Given the description of an element on the screen output the (x, y) to click on. 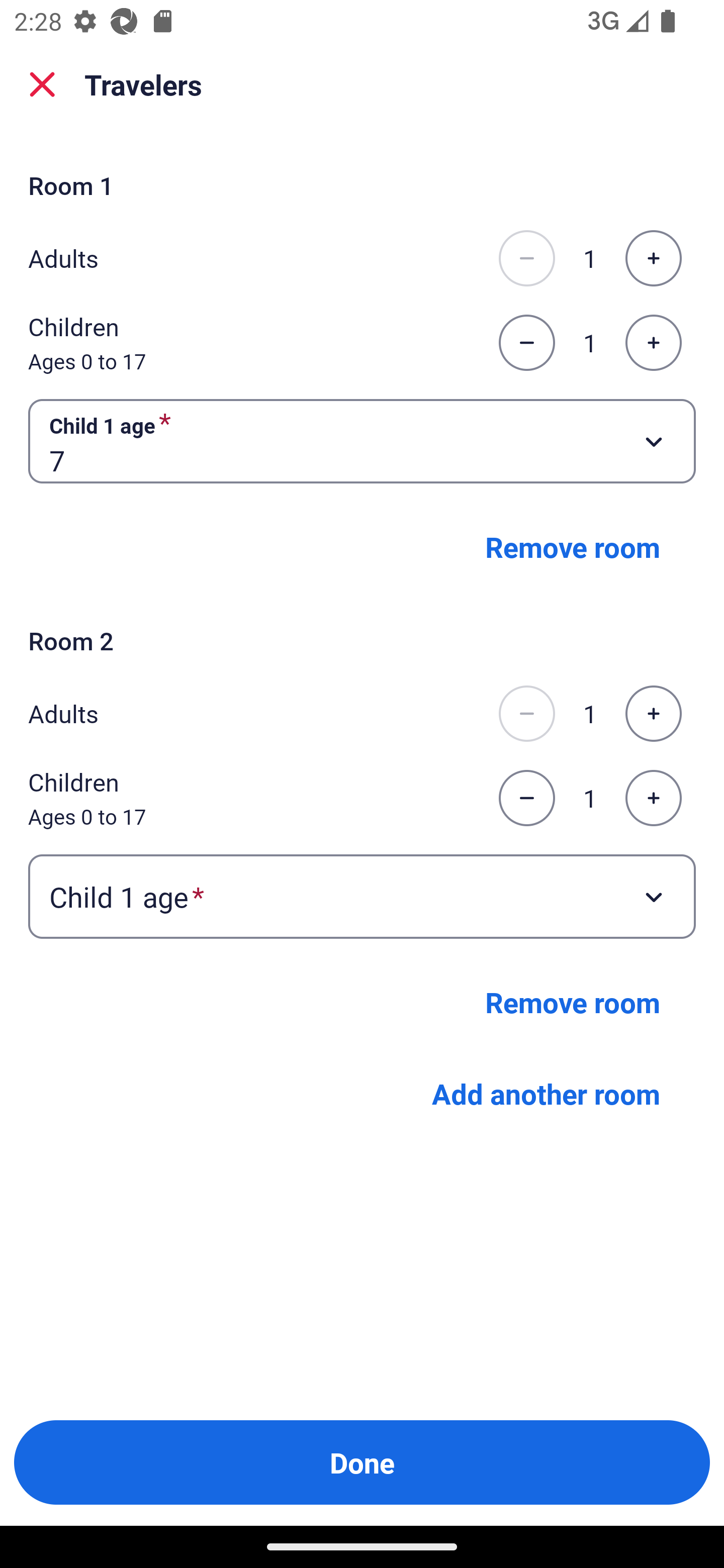
close (42, 84)
Decrease the number of adults (526, 258)
Increase the number of adults (653, 258)
Decrease the number of children (526, 343)
Increase the number of children (653, 343)
Child 1 age required Button 7 (361, 440)
Remove room (572, 546)
Decrease the number of adults (526, 713)
Increase the number of adults (653, 713)
Decrease the number of children (526, 797)
Increase the number of children (653, 797)
Child 1 age required Button (361, 896)
Remove room (572, 1001)
Add another room (545, 1093)
Done (361, 1462)
